Given the description of an element on the screen output the (x, y) to click on. 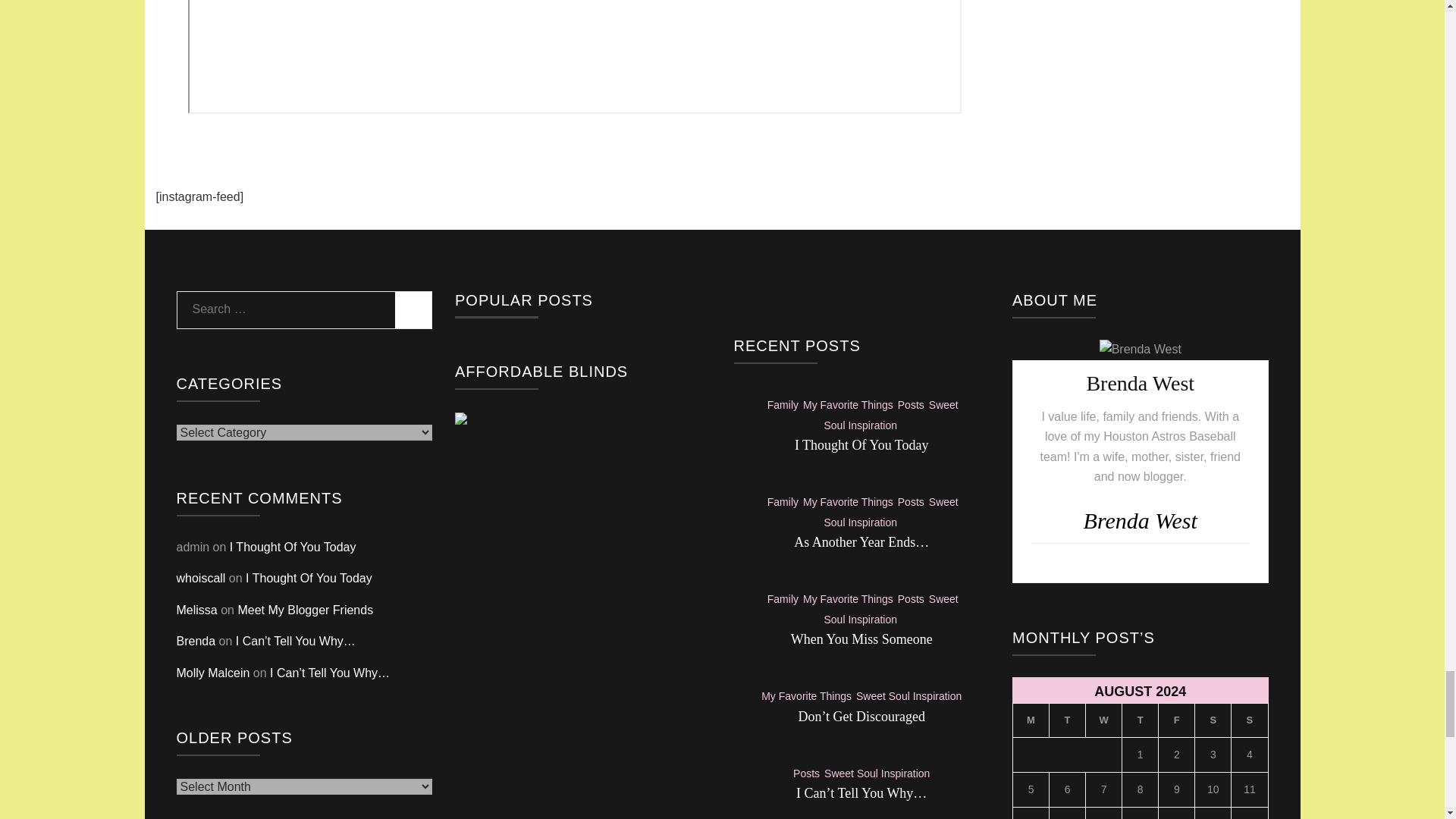
Search (412, 309)
Search (412, 309)
